Given the description of an element on the screen output the (x, y) to click on. 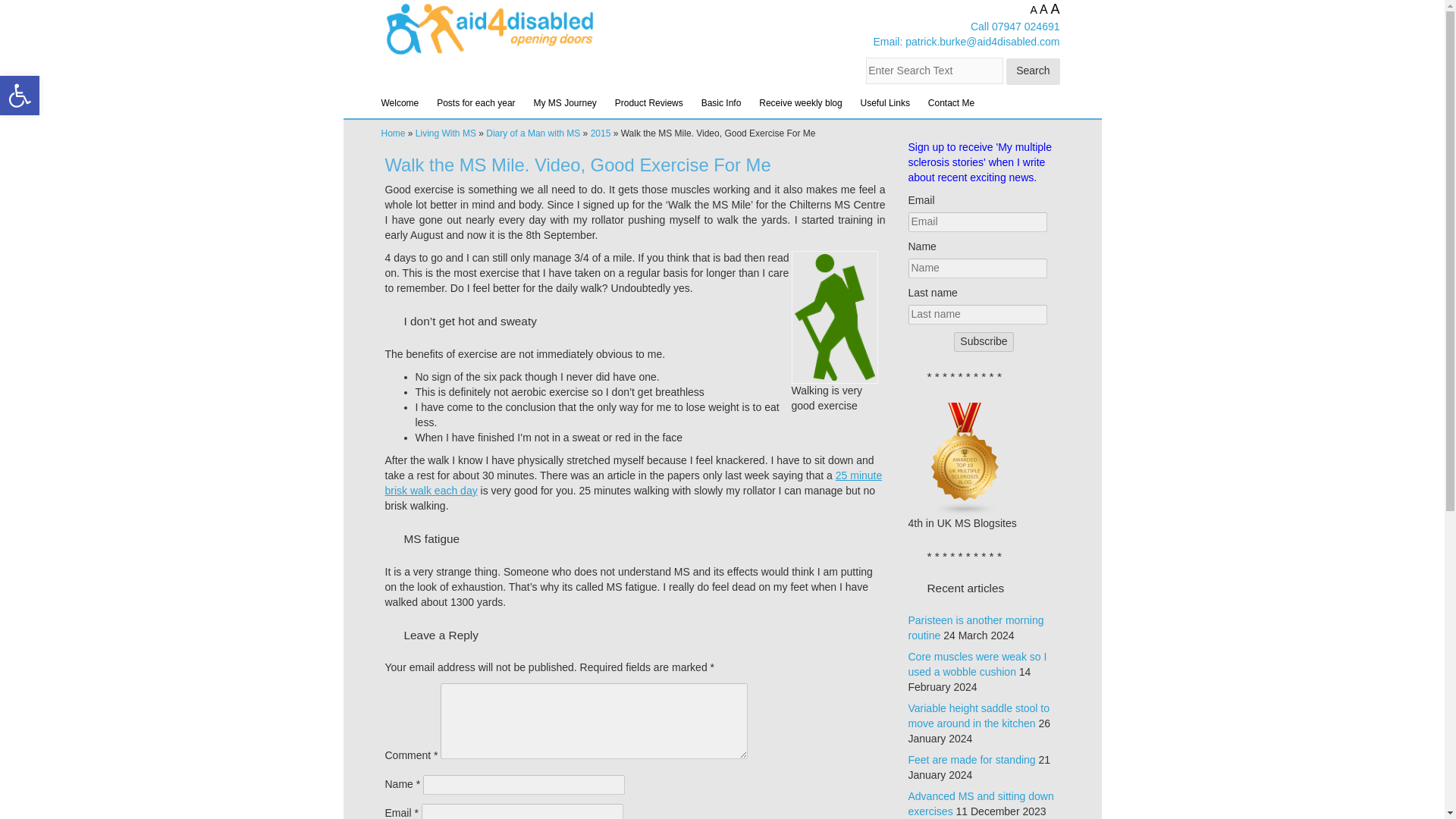
Search (1032, 71)
Call 07947 024691 (1015, 26)
Accessibility Tools (19, 95)
Posts for each year (475, 102)
Welcome (399, 102)
Search (1032, 71)
Search for: (934, 70)
My MS Journey (563, 102)
Accessibility Tools (19, 95)
Search (1032, 71)
